Given the description of an element on the screen output the (x, y) to click on. 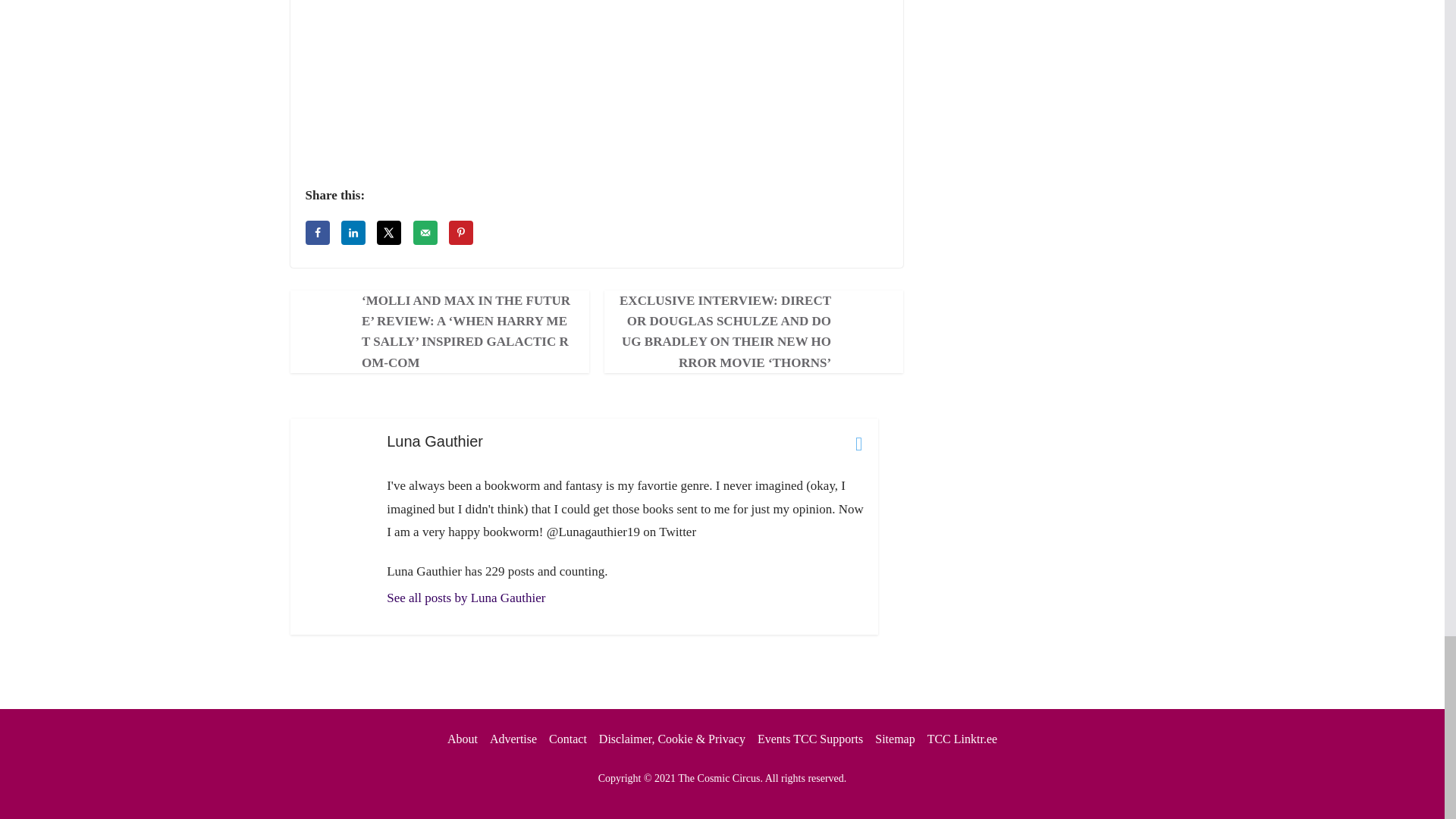
Send over email (425, 232)
Share on X (389, 232)
Share on LinkedIn (352, 232)
Save to Pinterest (460, 232)
Share on Facebook (316, 232)
